Given the description of an element on the screen output the (x, y) to click on. 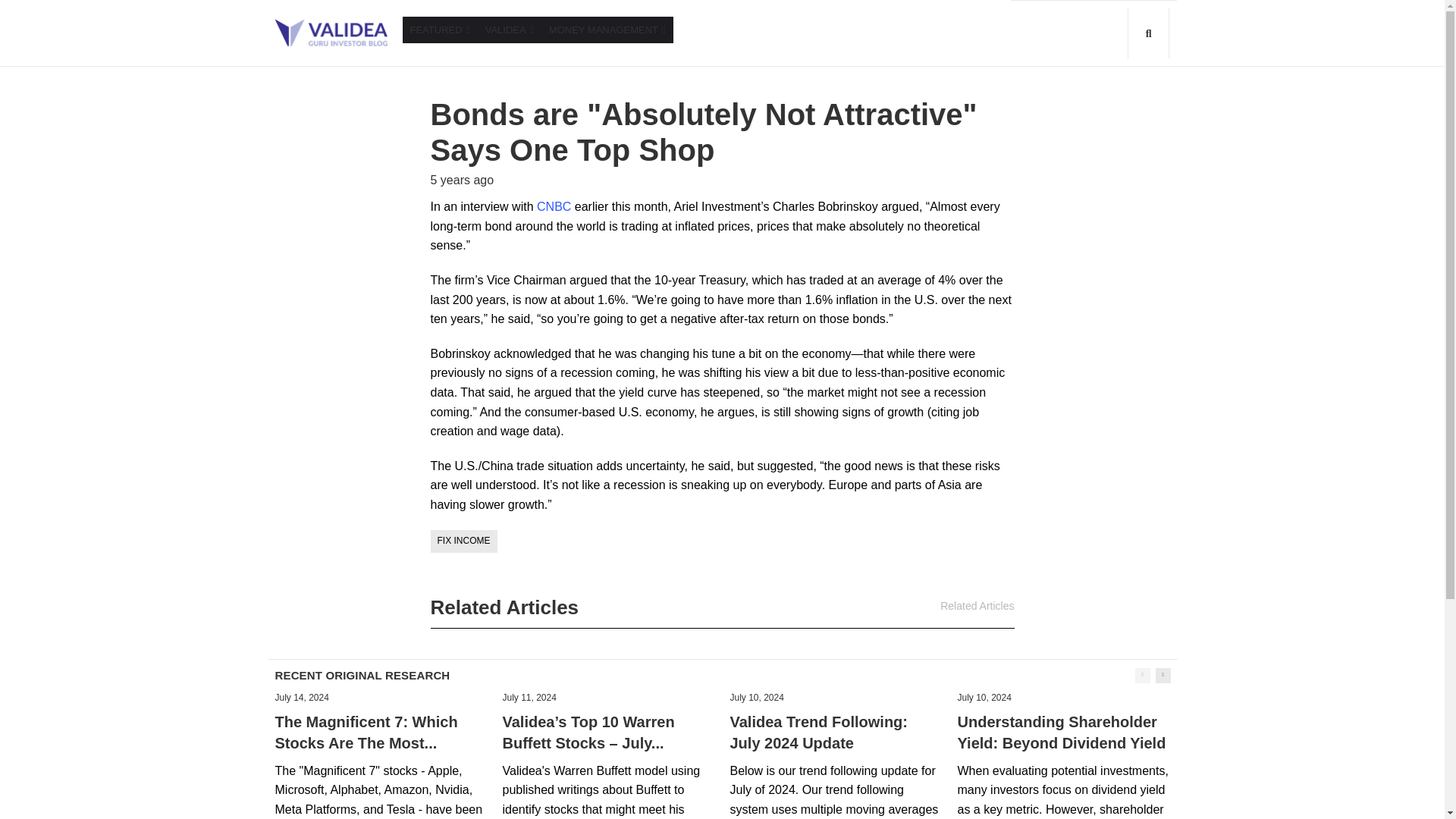
Understanding Shareholder Yield: Beyond Dividend Yield (1061, 732)
CNBC (553, 205)
2024-07-11T09:09:15-04:00 (529, 697)
FIX INCOME (463, 540)
July 10, 2024 (756, 697)
July 11, 2024 (529, 697)
2024-07-14T18:24:16-04:00 (302, 697)
July 10, 2024 (983, 697)
FEATURED (439, 29)
July 14, 2024 (302, 697)
VALIDEA (509, 29)
MONEY MANAGEMENT (606, 29)
2024-07-10T09:19:35-04:00 (756, 697)
2024-07-10T09:04:47-04:00 (983, 697)
5 years ago (462, 179)
